Given the description of an element on the screen output the (x, y) to click on. 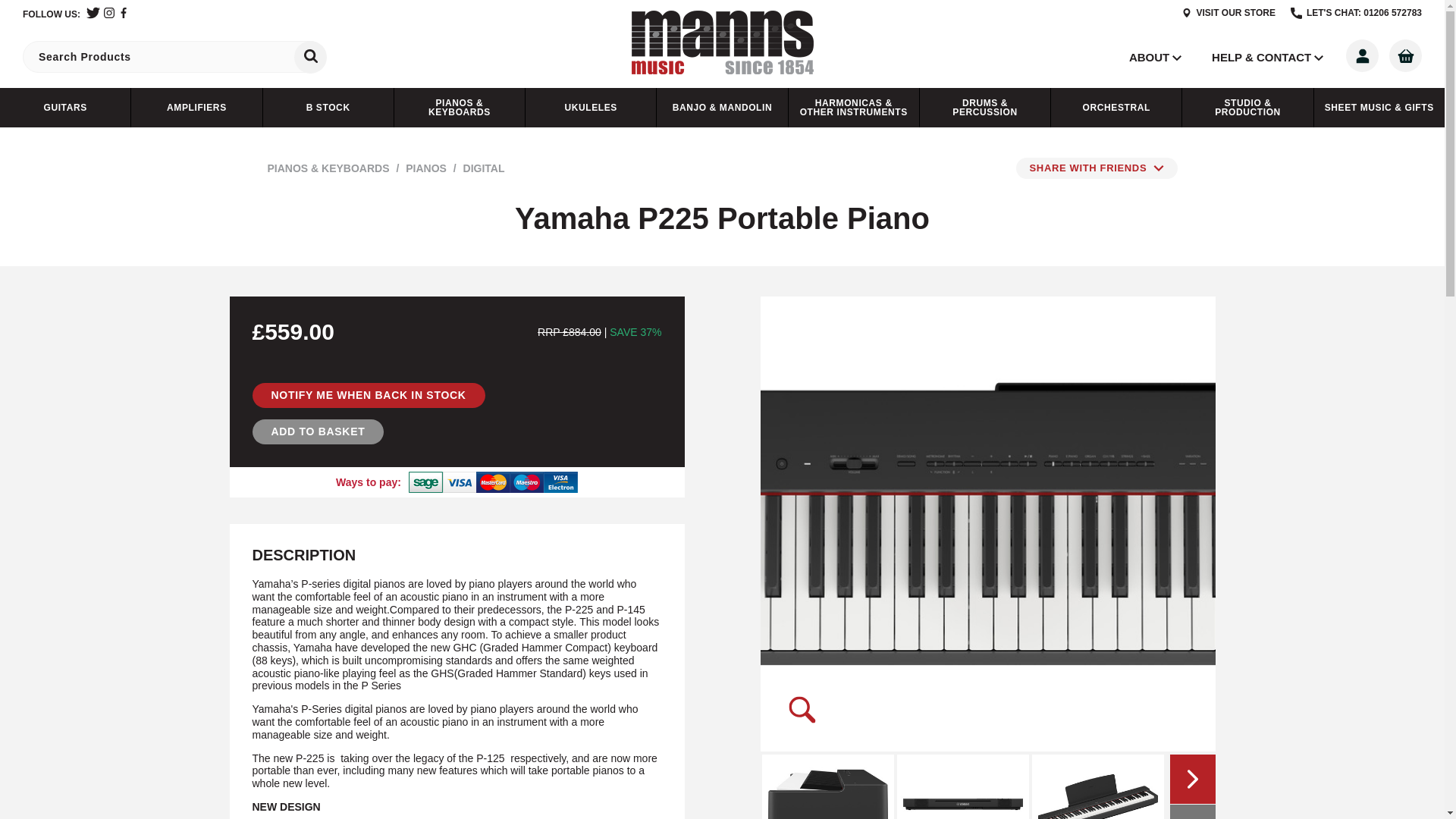
LET'S CHAT: 01206 572783 (1356, 12)
search (310, 56)
search (309, 56)
Yamaha P225 Portable Piano (961, 786)
VISIT OUR STORE (1228, 12)
Yamaha P225 Portable Piano (827, 786)
ABOUT (1149, 56)
Yamaha P225 Portable Piano (1096, 786)
